Given the description of an element on the screen output the (x, y) to click on. 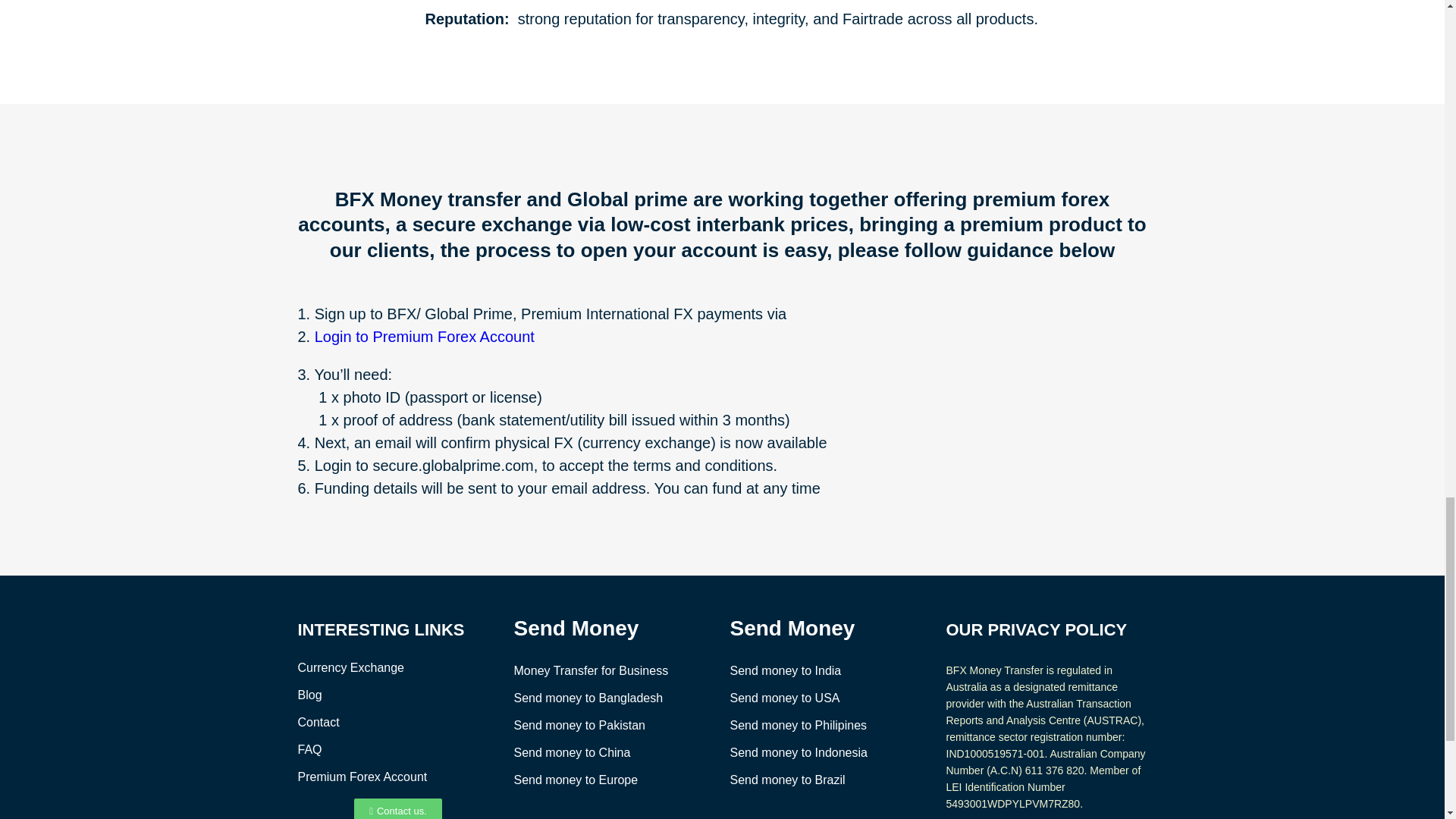
Contact us. (397, 808)
Send money to USA (784, 697)
Currency Exchange (350, 667)
Send money to India (785, 670)
Premium Forex Account (361, 776)
Login to Premium Forex Account (424, 336)
Send money to Indonesia (797, 752)
Send money to China (571, 752)
FAQ (309, 748)
Send money to Bangladesh (588, 697)
